Given the description of an element on the screen output the (x, y) to click on. 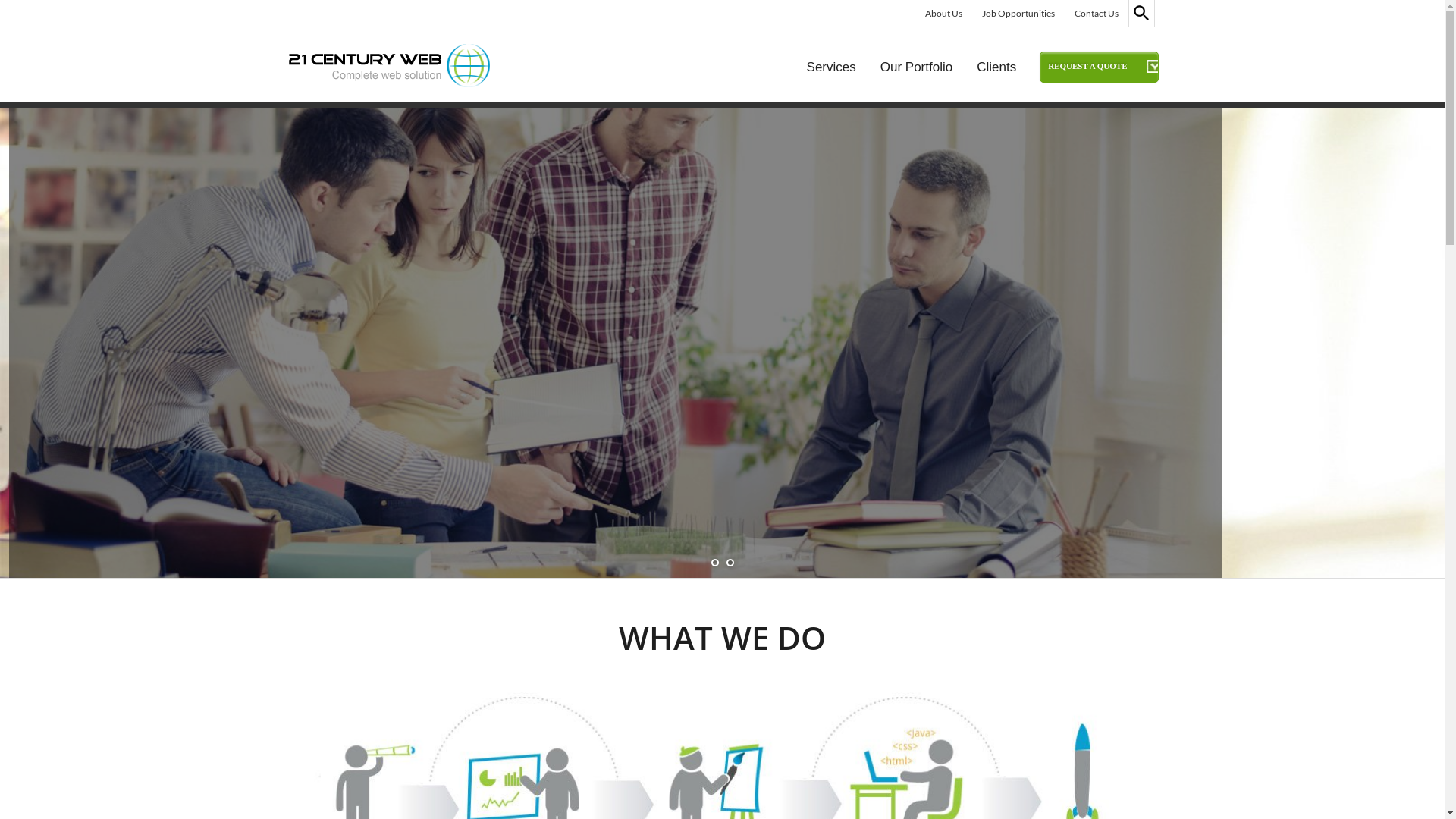
Services Element type: text (831, 64)
Job Opportunities Element type: text (1017, 13)
Search Element type: text (1131, 0)
About Us Element type: text (943, 13)
Contact Us Element type: text (1095, 13)
Our Portfolio Element type: text (916, 64)
Clients Element type: text (996, 64)
REQUEST A QUOTE Element type: text (1098, 66)
